Given the description of an element on the screen output the (x, y) to click on. 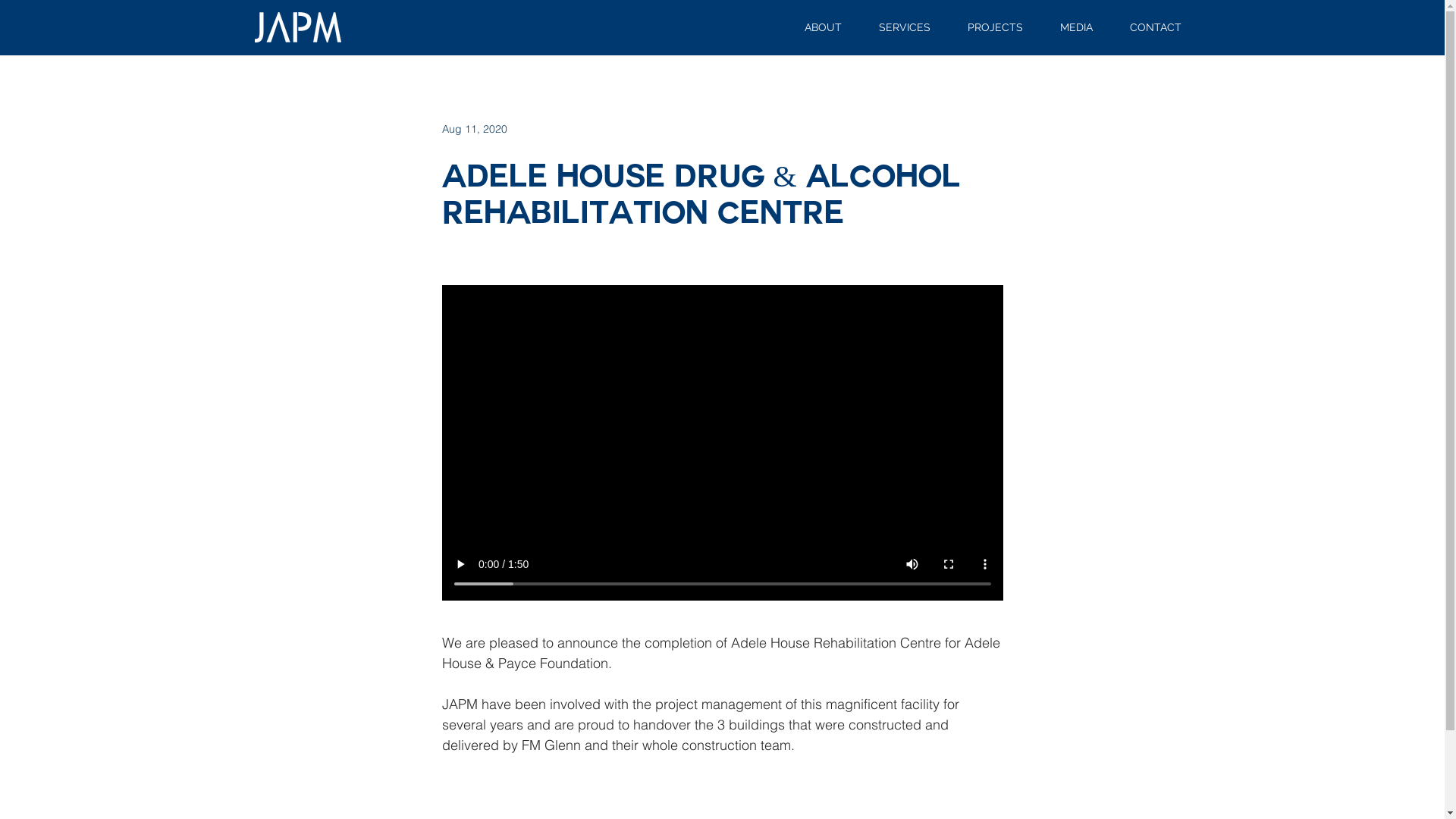
MEDIA Element type: text (1076, 27)
ABOUT Element type: text (822, 27)
SERVICES Element type: text (903, 27)
PROJECTS Element type: text (995, 27)
CONTACT Element type: text (1155, 27)
